Given the description of an element on the screen output the (x, y) to click on. 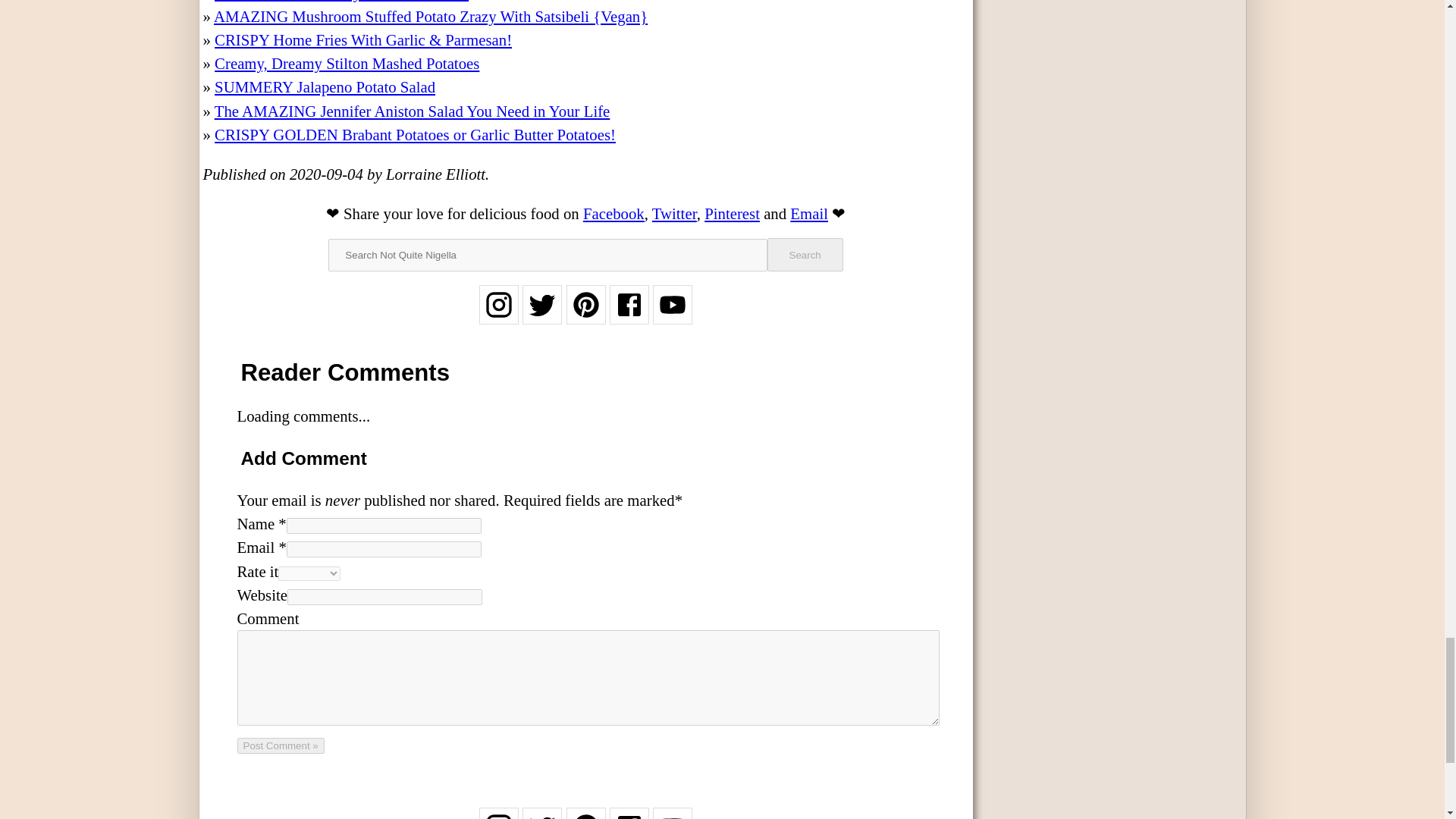
Facebook (614, 212)
Follow on Twitter (542, 313)
Follow on YouTube (672, 313)
The AMAZING Jennifer Aniston Salad You Need in Your Life (412, 110)
CRISPY GOLDEN Brabant Potatoes or Garlic Butter Potatoes! (414, 134)
Creamy, Dreamy Stilton Mashed Potatoes (346, 63)
Follow on Instagram (498, 313)
Email (809, 212)
Pinterest (732, 212)
